Given the description of an element on the screen output the (x, y) to click on. 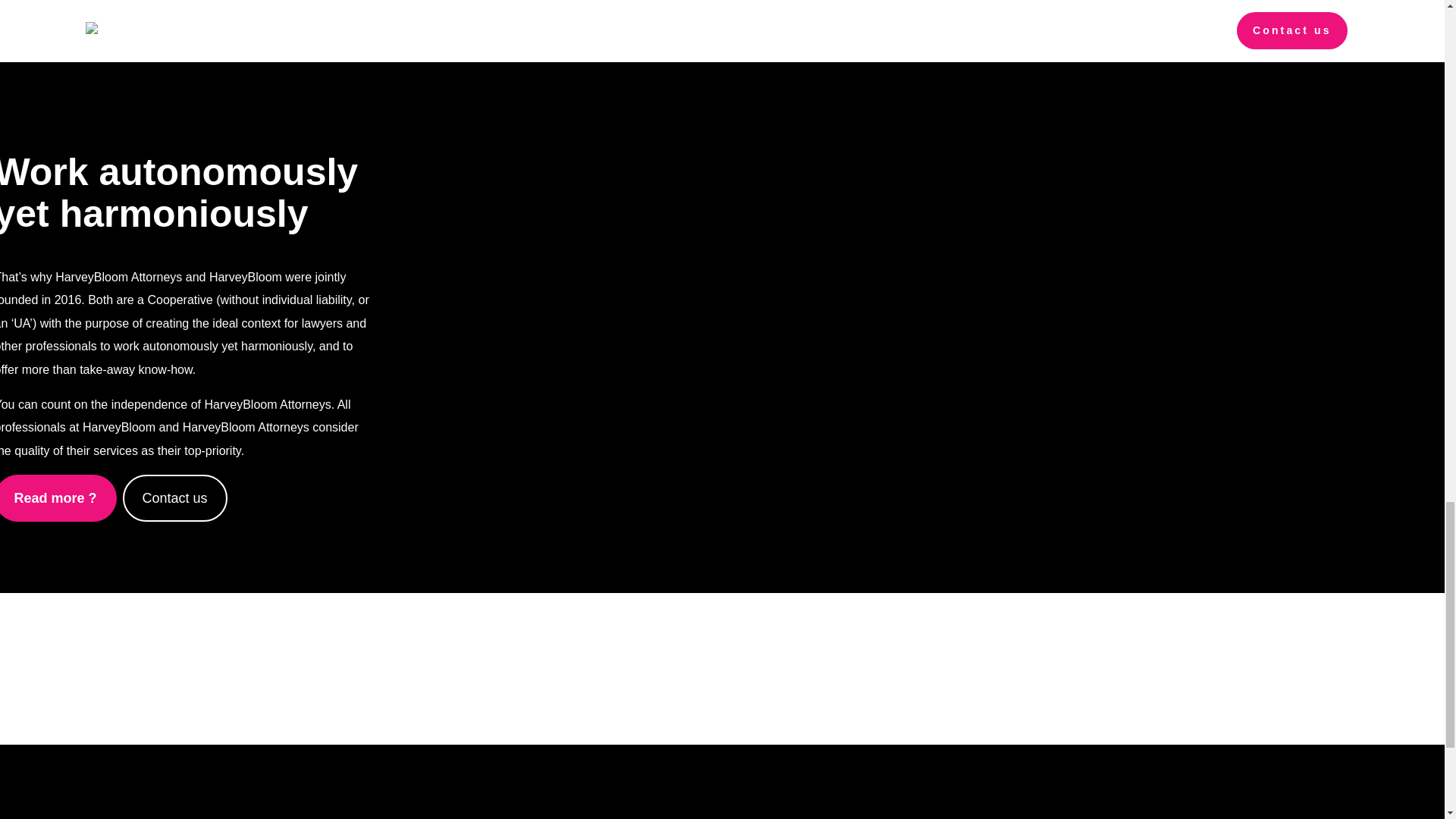
Read more ? (58, 498)
Contact us (174, 498)
